Given the description of an element on the screen output the (x, y) to click on. 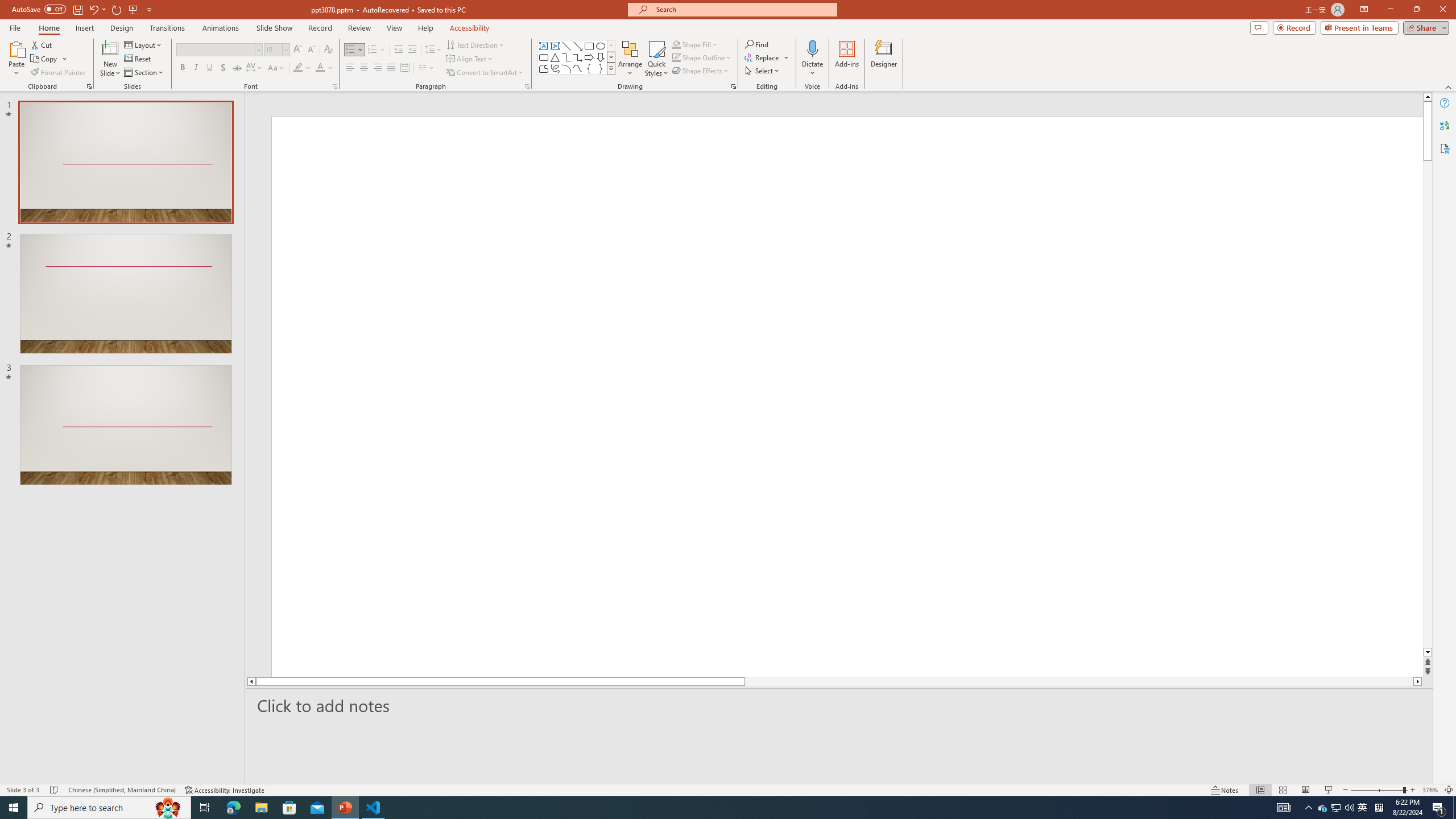
Shape Outline (701, 56)
